Given the description of an element on the screen output the (x, y) to click on. 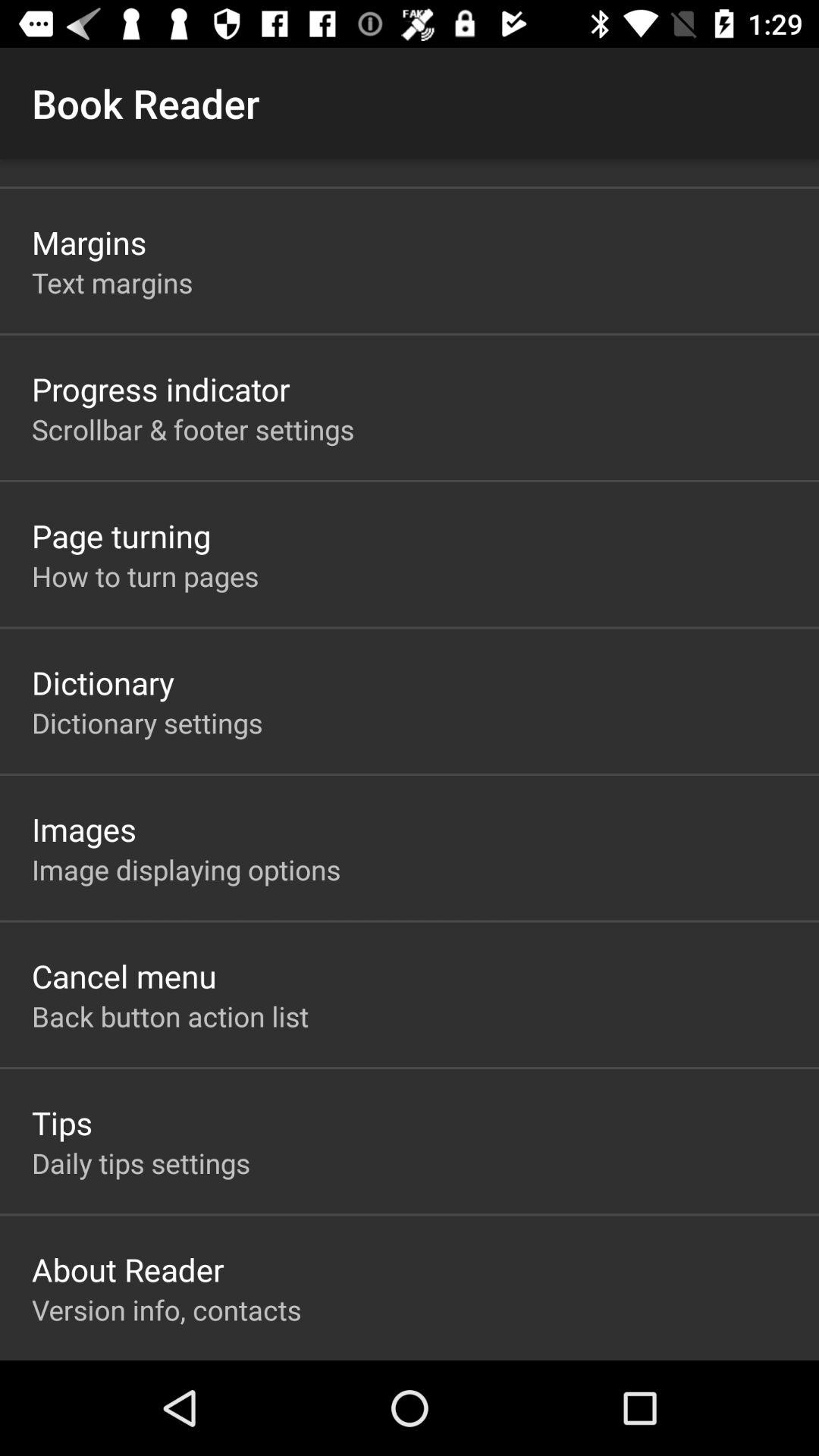
jump to scrollbar & footer settings app (192, 429)
